Given the description of an element on the screen output the (x, y) to click on. 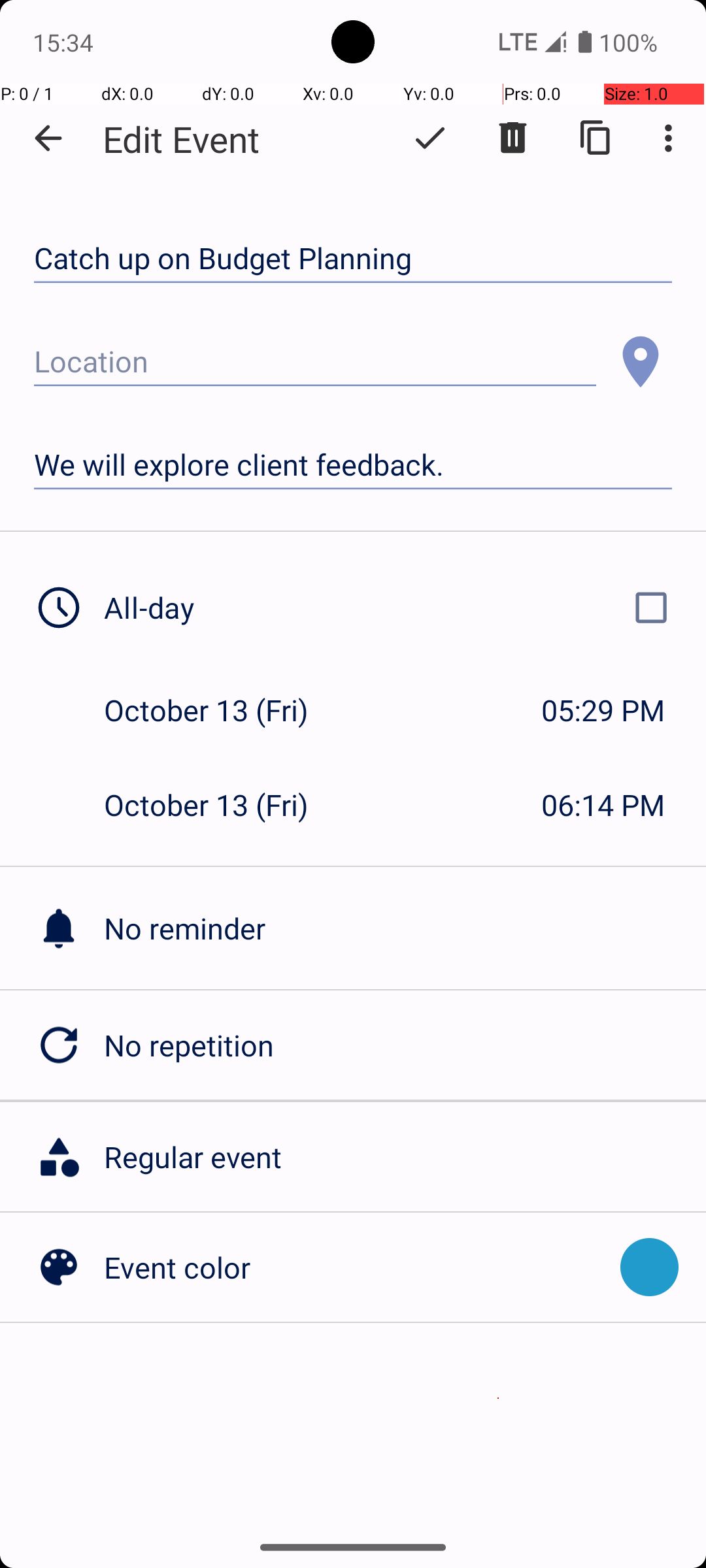
We will explore client feedback. Element type: android.widget.EditText (352, 465)
October 13 (Fri) Element type: android.widget.TextView (219, 709)
05:29 PM Element type: android.widget.TextView (602, 709)
06:14 PM Element type: android.widget.TextView (602, 804)
